Given the description of an element on the screen output the (x, y) to click on. 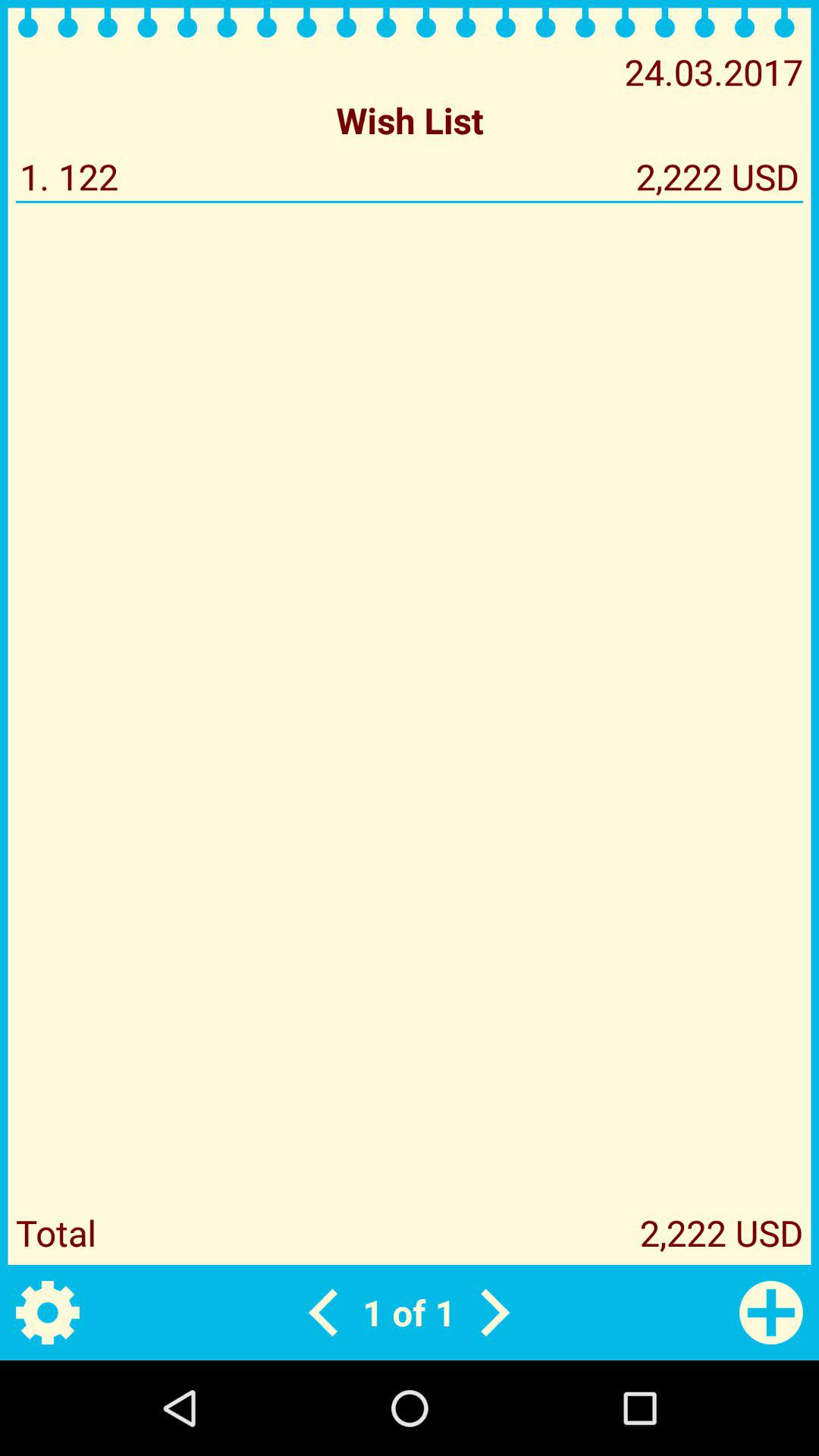
open the icon below 24.03.2017 app (409, 120)
